Given the description of an element on the screen output the (x, y) to click on. 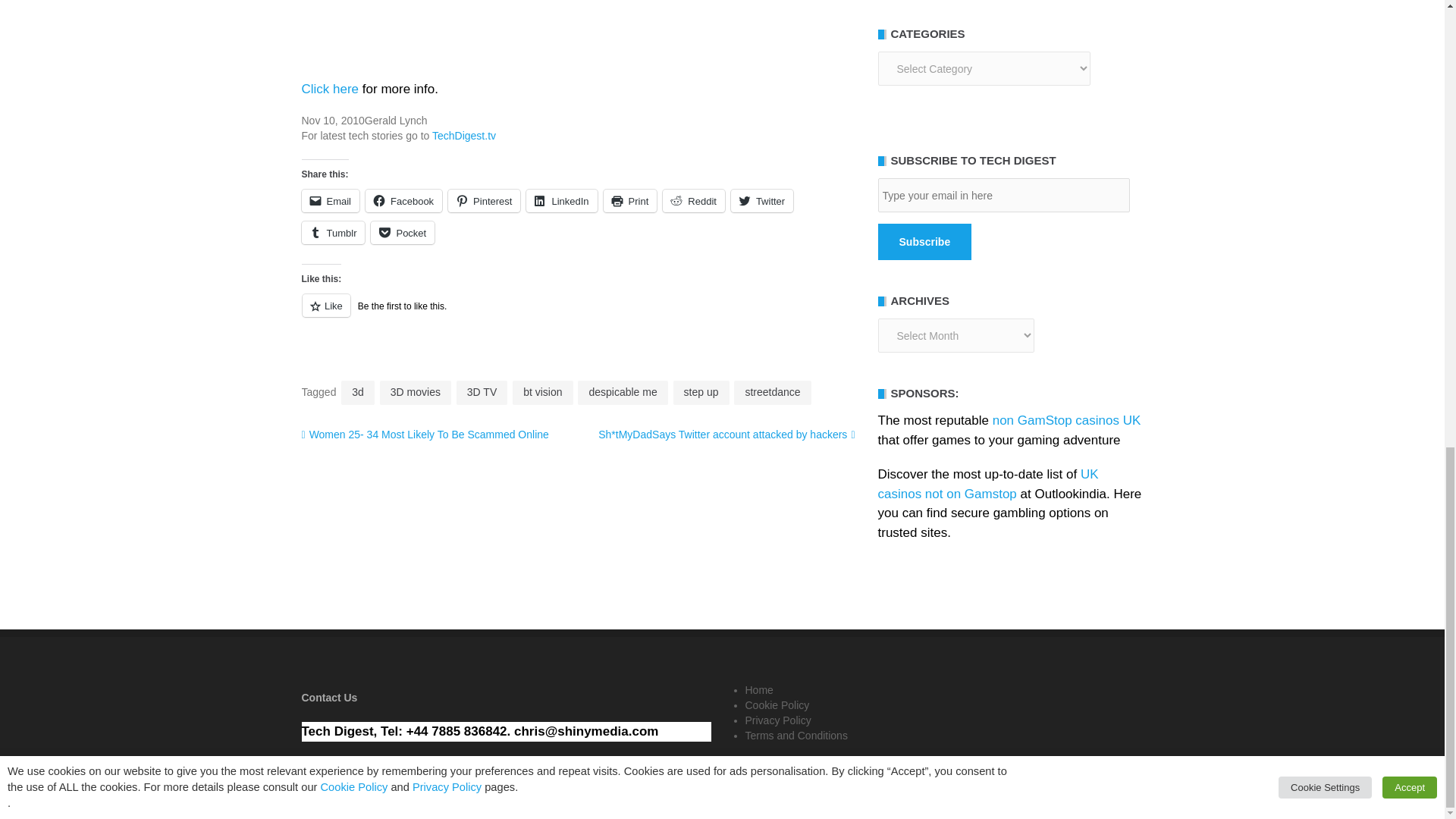
Click to email a link to a friend (330, 200)
Click to share on Pocket (402, 232)
Click to share on Reddit (693, 200)
Click to share on LinkedIn (560, 200)
Type your email in here (1003, 195)
Click to share on Facebook (403, 200)
Like or Reblog (578, 313)
Click to share on Pinterest (483, 200)
Advertisement (578, 32)
Click to share on Twitter (761, 200)
Click to share on Tumblr (333, 232)
Type your email in here (1003, 195)
Click to print (631, 200)
